Given the description of an element on the screen output the (x, y) to click on. 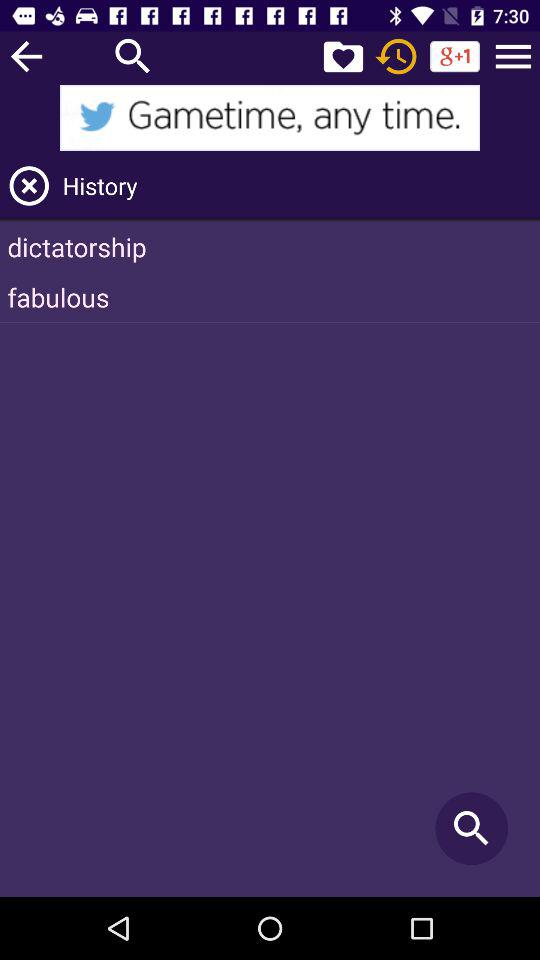
select icon to the left of the history icon (29, 185)
